Given the description of an element on the screen output the (x, y) to click on. 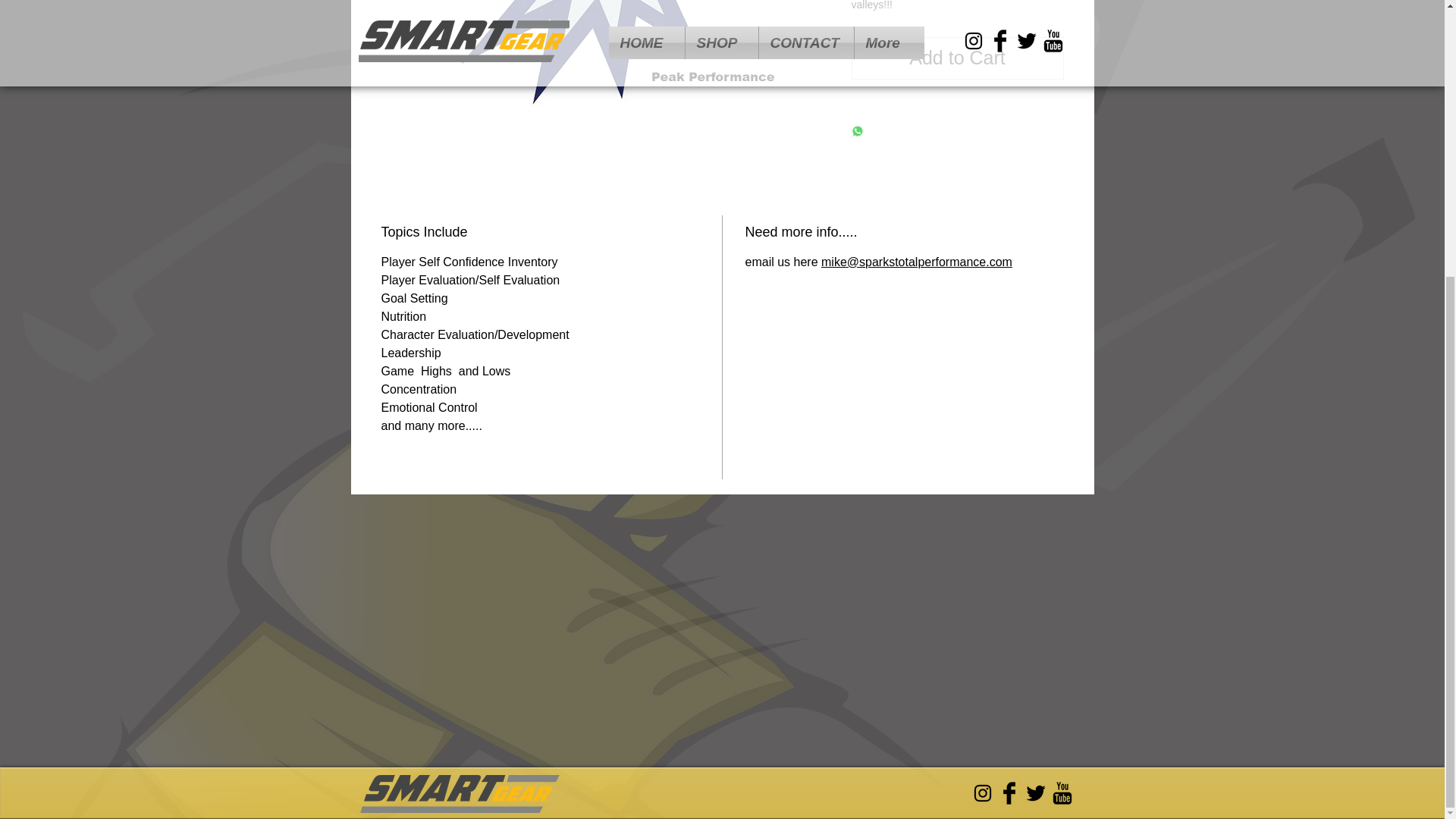
Add to Cart (956, 57)
